Given the description of an element on the screen output the (x, y) to click on. 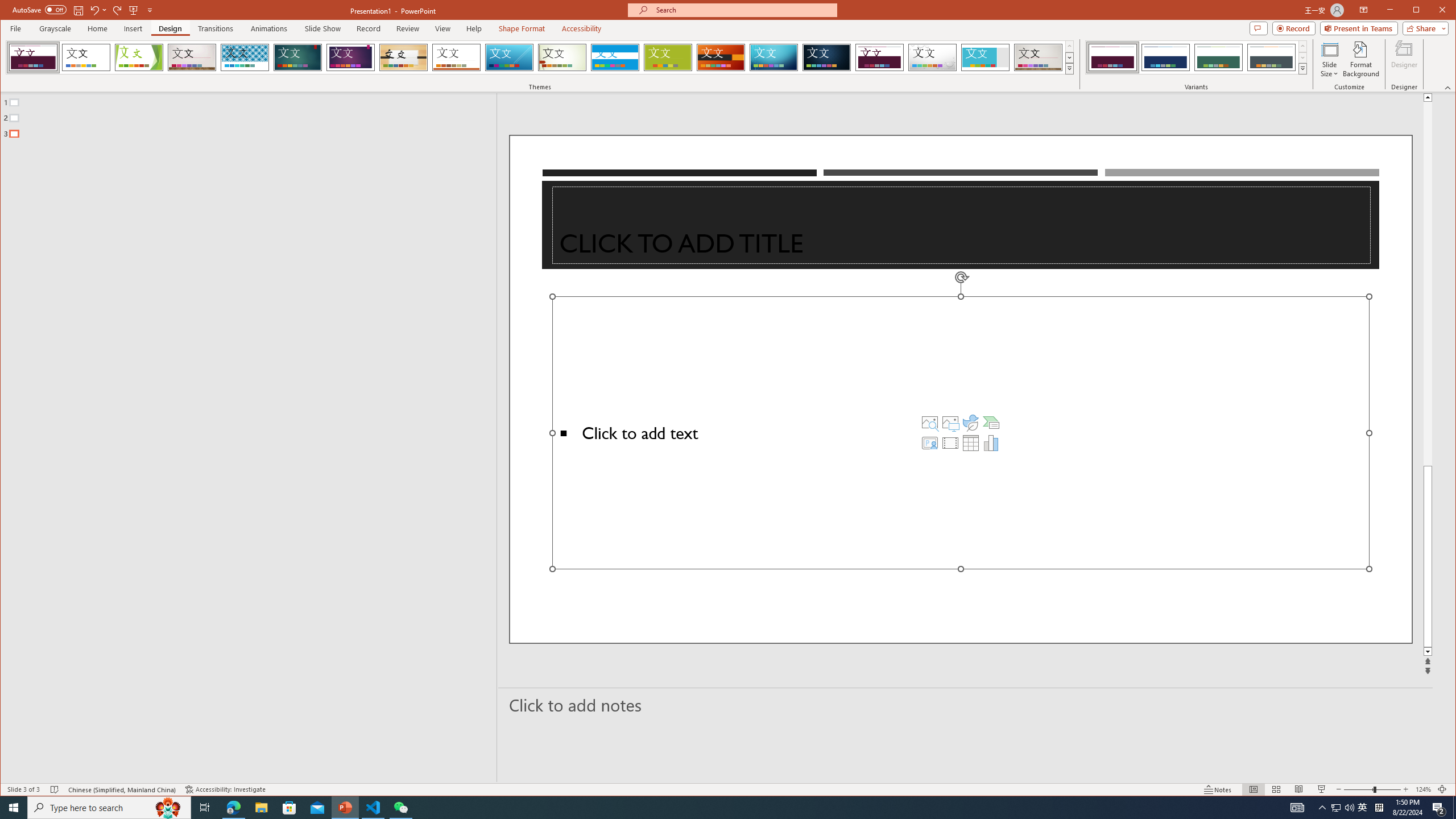
Berlin (720, 57)
Organic (403, 57)
Retrospect (456, 57)
